Given the description of an element on the screen output the (x, y) to click on. 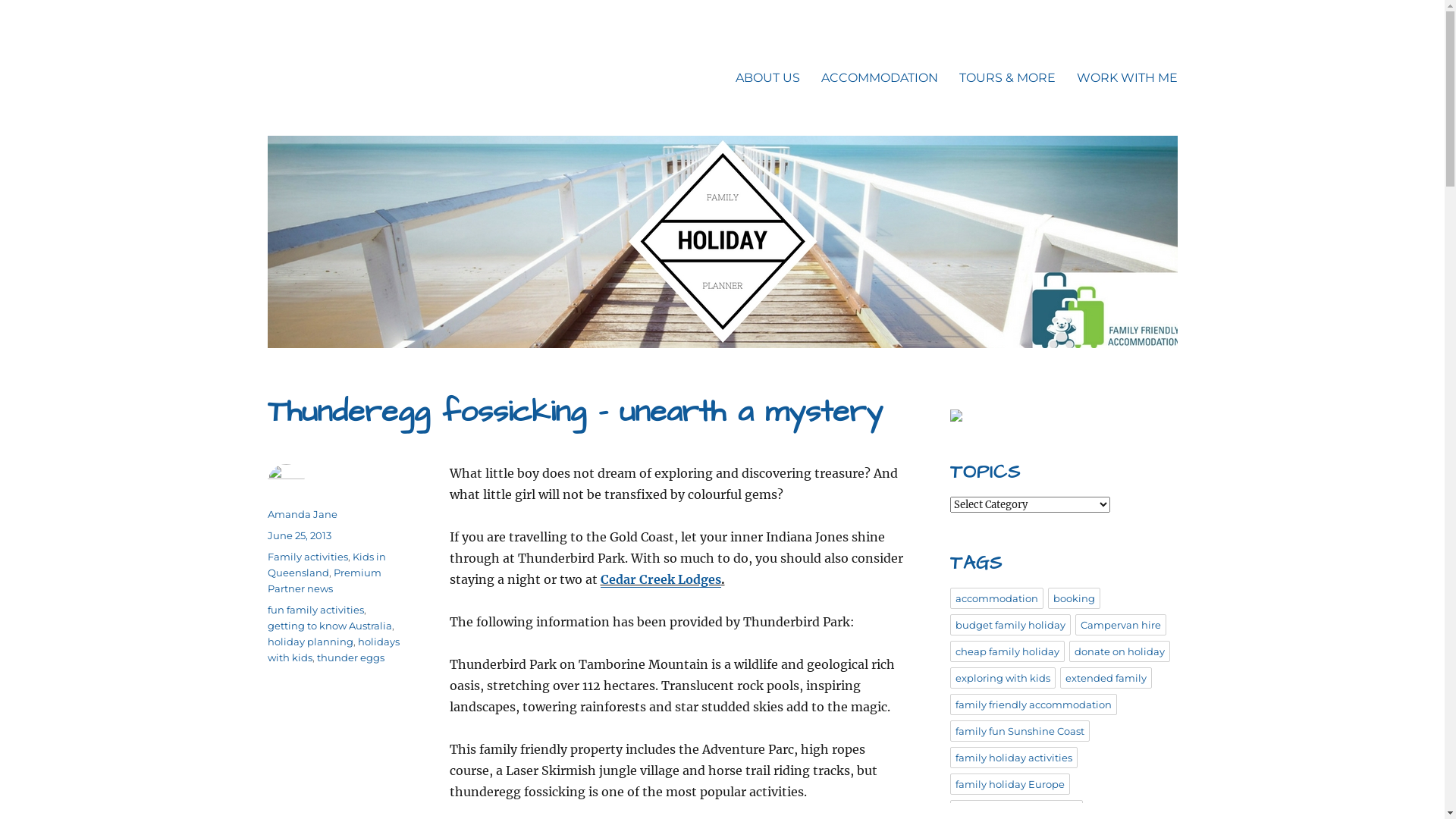
TOURS & MORE Element type: text (1006, 77)
Family activities Element type: text (306, 556)
donate on holiday Element type: text (1119, 651)
June 25, 2013 Element type: text (298, 535)
ABOUT US Element type: text (767, 77)
budget family holiday Element type: text (1009, 624)
family holiday Europe Element type: text (1009, 783)
accommodation Element type: text (995, 597)
Campervan hire Element type: text (1120, 624)
fun family activities Element type: text (314, 609)
exploring with kids Element type: text (1001, 677)
thunder eggs Element type: text (350, 657)
Kids in Queensland Element type: text (325, 564)
ACCOMMODATION Element type: text (878, 77)
Premium Partner news Element type: text (323, 580)
family friendly accommodation Element type: text (1032, 704)
family holiday activities Element type: text (1012, 757)
getting to know Australia Element type: text (328, 625)
Cedar Creek Lodges Element type: text (660, 578)
cheap family holiday Element type: text (1006, 651)
holidays with kids Element type: text (332, 649)
WORK WITH ME Element type: text (1127, 77)
extended family Element type: text (1105, 677)
family fun Sunshine Coast Element type: text (1018, 730)
Amanda Jane Element type: text (301, 514)
booking Element type: text (1074, 597)
holiday planning Element type: text (309, 641)
